Given the description of an element on the screen output the (x, y) to click on. 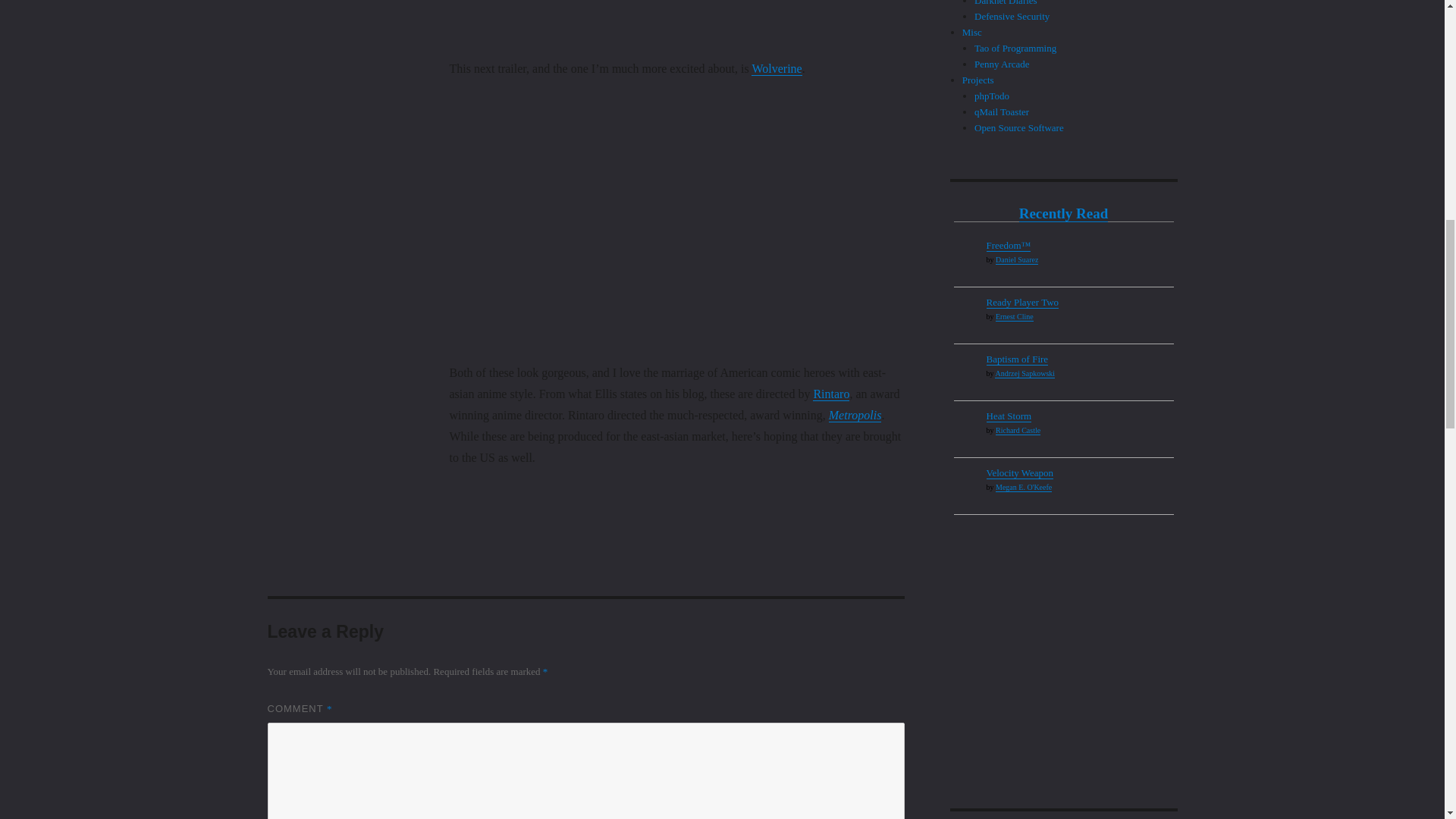
phpTodo (991, 95)
Darknet Diaries (1005, 2)
Defensive Security (1011, 16)
Tao of Programming (1015, 48)
Wikipedia - Rintaro (830, 393)
Projects (978, 79)
Warren Ellis - Wolverine (776, 68)
Open Source Software (1019, 127)
Wikipedia - Metropolis (855, 414)
qMail Toaster (1001, 111)
Misc (971, 31)
Rintaro (830, 393)
Wolverine (776, 68)
Metropolis (855, 414)
Penny Arcade (1001, 63)
